Given the description of an element on the screen output the (x, y) to click on. 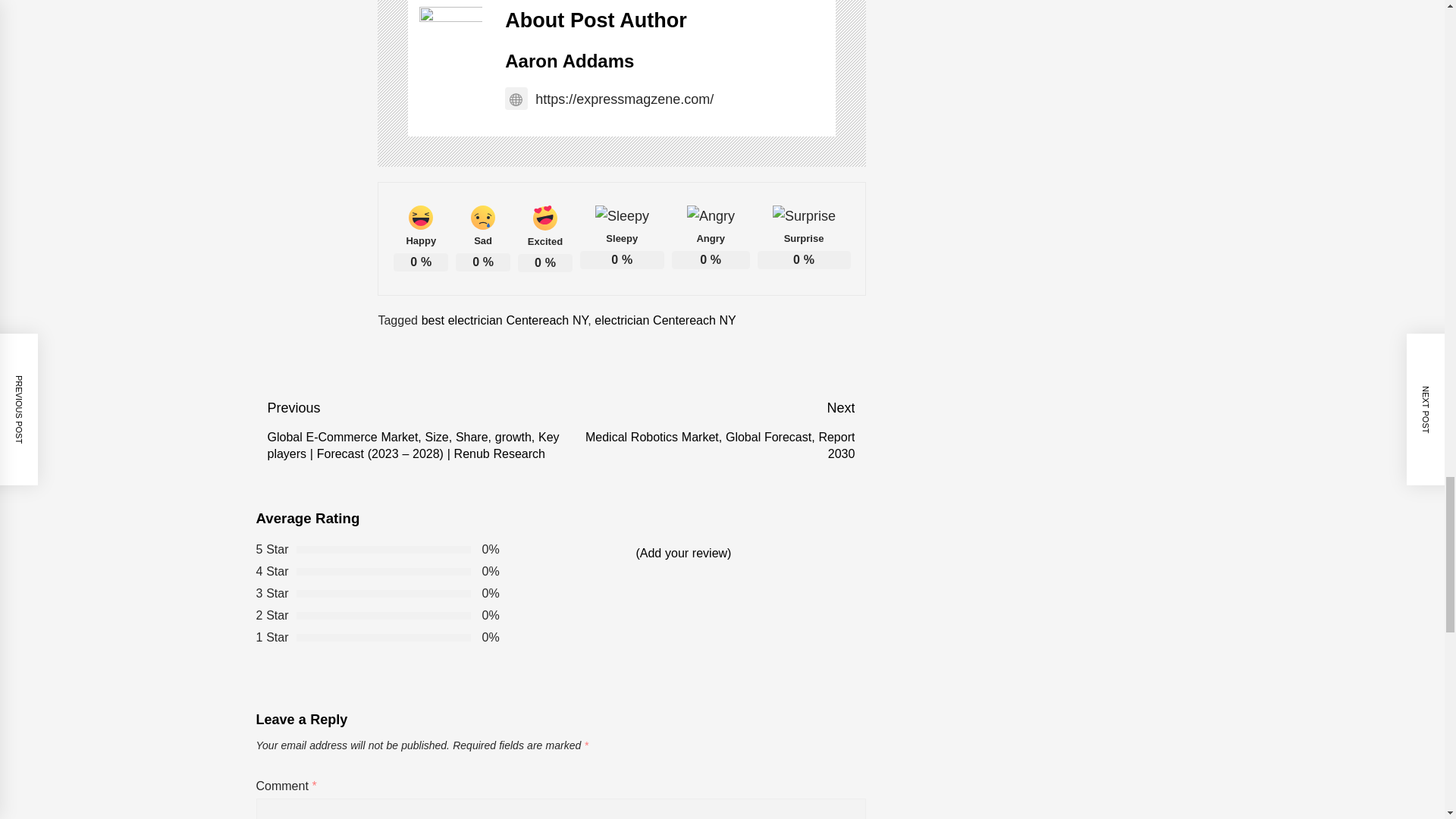
electrician Centereach NY (664, 319)
best electrician Centereach NY (505, 319)
Aaron Addams (569, 60)
